Given the description of an element on the screen output the (x, y) to click on. 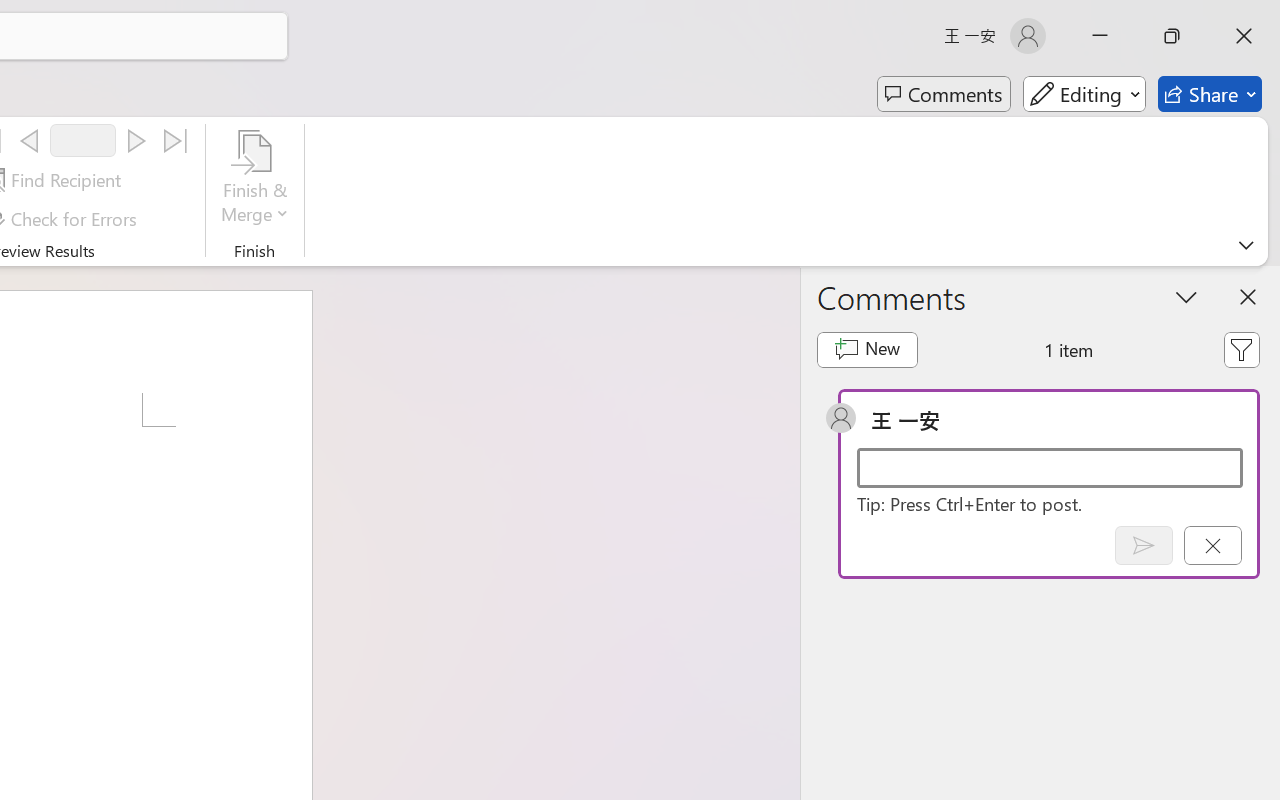
Cancel (1212, 545)
Start a conversation (1050, 467)
Next (136, 141)
Record (83, 140)
Filter (1241, 350)
New comment (866, 350)
